Given the description of an element on the screen output the (x, y) to click on. 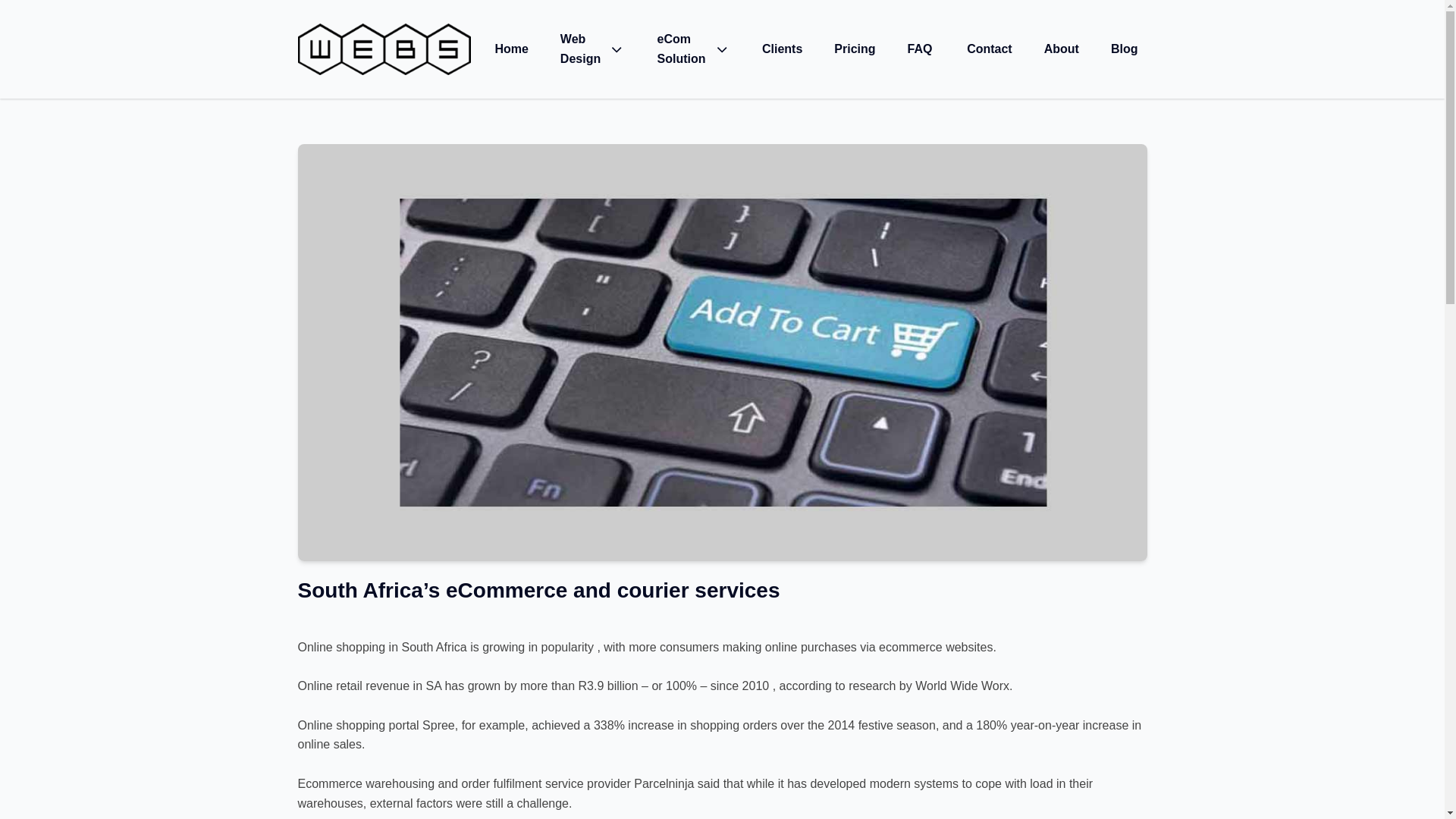
Pricing (854, 48)
eCom Solution (693, 49)
Clients (782, 48)
Web Design (592, 49)
Contact (989, 48)
